Given the description of an element on the screen output the (x, y) to click on. 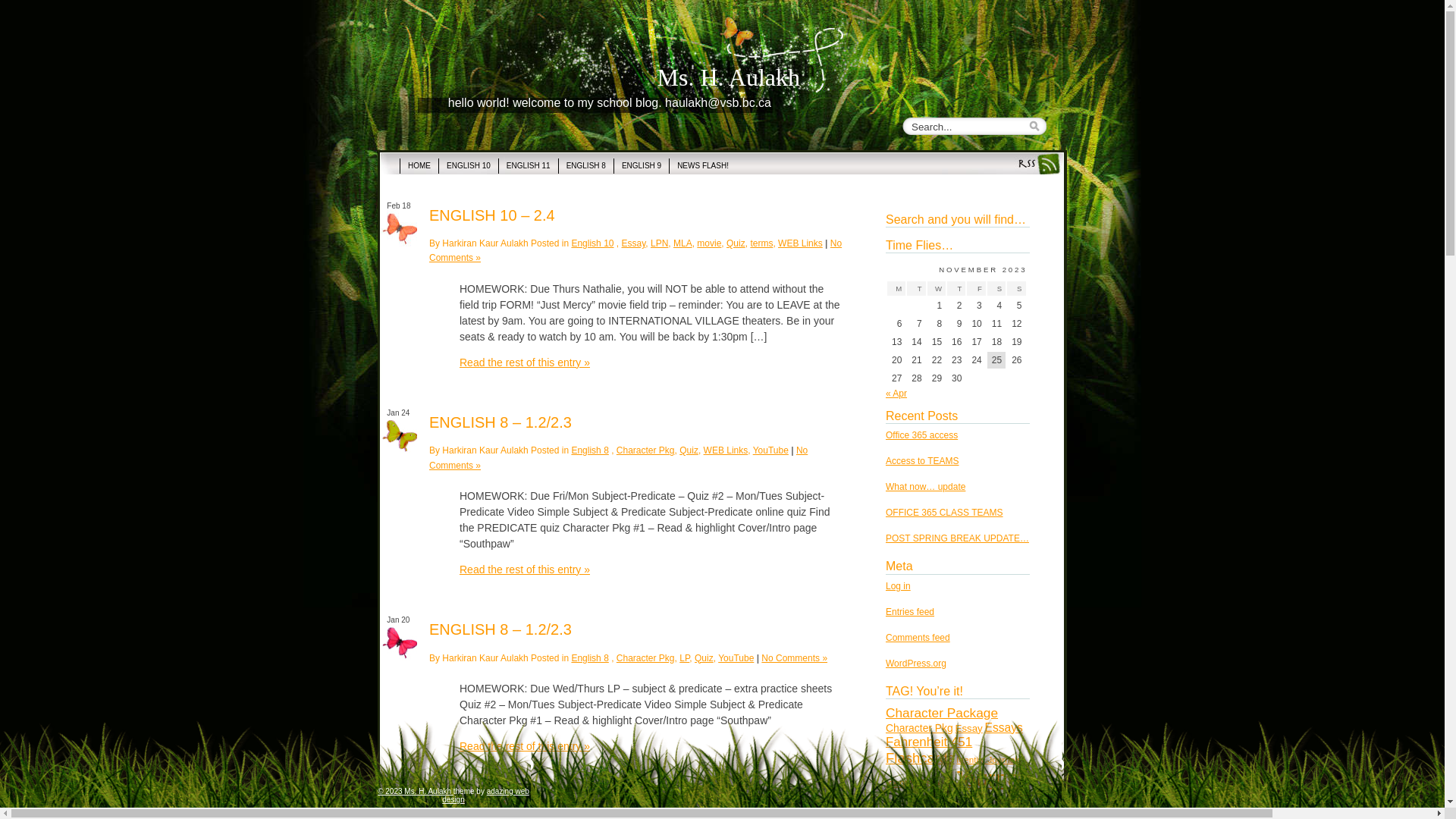
Lit Circles Element type: text (920, 805)
OFFICE 365 CLASS TEAMS Element type: text (944, 512)
English 10 Element type: text (592, 243)
Character Pkg Element type: text (645, 657)
Essay Element type: text (633, 243)
WEB Links Element type: text (725, 450)
Character Pkg Element type: text (645, 450)
ENGLISH 9 Element type: text (640, 165)
Identity Journals Element type: text (988, 759)
Quiz Element type: text (703, 657)
Access to TEAMS Element type: text (921, 460)
Log in Element type: text (897, 585)
Identity Project Element type: text (917, 782)
adazing web design Element type: text (485, 795)
Entries feed Element type: text (909, 611)
Office 365 access Element type: text (921, 434)
WEB Links Element type: text (800, 243)
movie Element type: text (708, 243)
HOME Element type: text (418, 165)
Journal Element type: text (989, 778)
Character Package Element type: text (941, 712)
LP Element type: text (971, 803)
LPN Element type: text (659, 243)
ENGLISH 10 Element type: text (468, 165)
Quiz Element type: text (735, 243)
MLA Element type: text (682, 243)
Quiz Element type: text (688, 450)
Essay Element type: text (968, 728)
NEWS FLASH! Element type: text (702, 165)
YouTube Element type: text (735, 657)
WordPress.org Element type: text (915, 663)
Essays Element type: text (1003, 727)
Flashcards Element type: text (919, 757)
Fahrenheit 451 Element type: text (928, 741)
LP Element type: text (684, 657)
Comments feed Element type: text (917, 637)
English 8 Element type: text (589, 450)
Character Pkg Element type: text (919, 727)
YouTube Element type: text (770, 450)
terms Element type: text (760, 243)
ENGLISH 11 Element type: text (528, 165)
English 8 Element type: text (589, 657)
ENGLISH 8 Element type: text (585, 165)
